Given the description of an element on the screen output the (x, y) to click on. 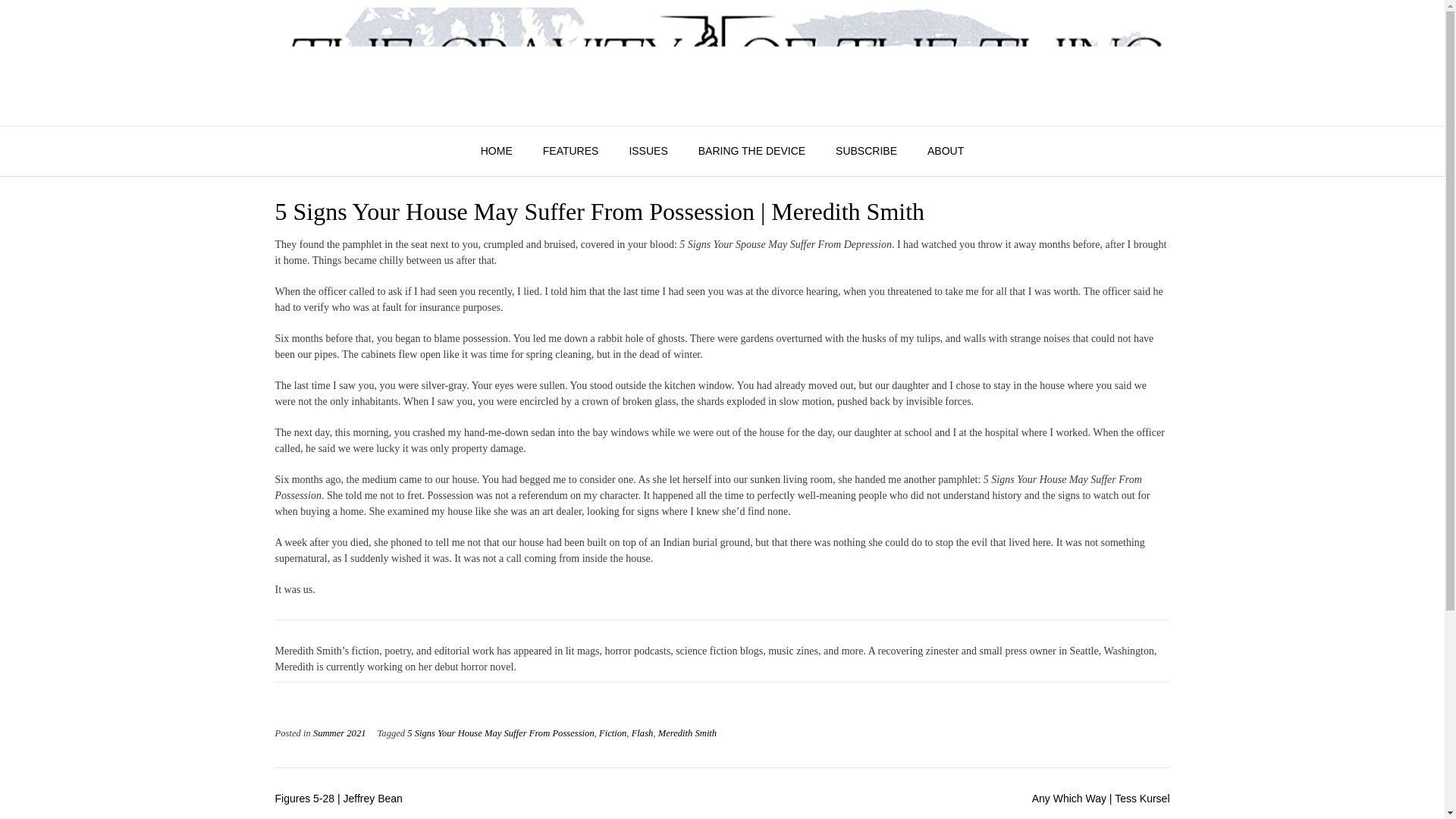
Flash (642, 733)
Fiction (612, 733)
HOME (496, 151)
FEATURES (570, 151)
Meredith Smith (687, 733)
BARING THE DEVICE (751, 151)
ABOUT (945, 151)
The Gravity of the Thing (722, 62)
Summer 2021 (339, 733)
5 Signs Your House May Suffer From Possession (500, 733)
SUBSCRIBE (866, 151)
ISSUES (647, 151)
